Given the description of an element on the screen output the (x, y) to click on. 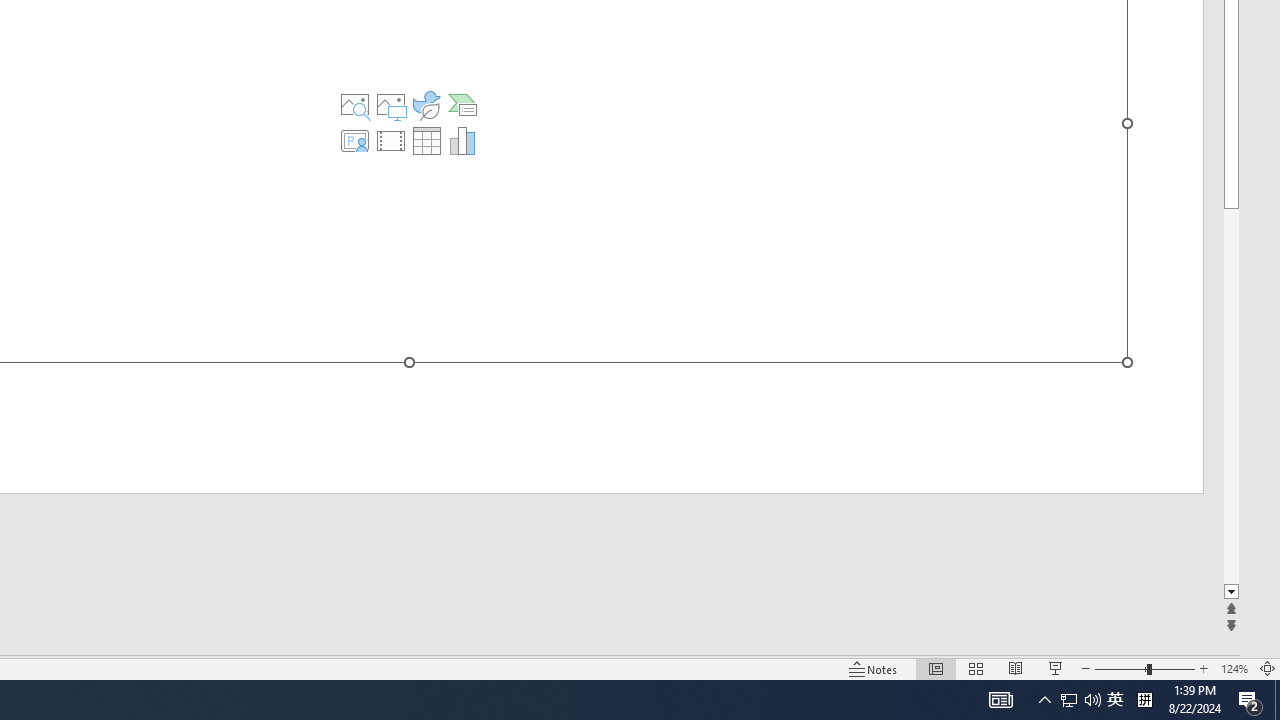
Zoom 124% (1234, 668)
